Given the description of an element on the screen output the (x, y) to click on. 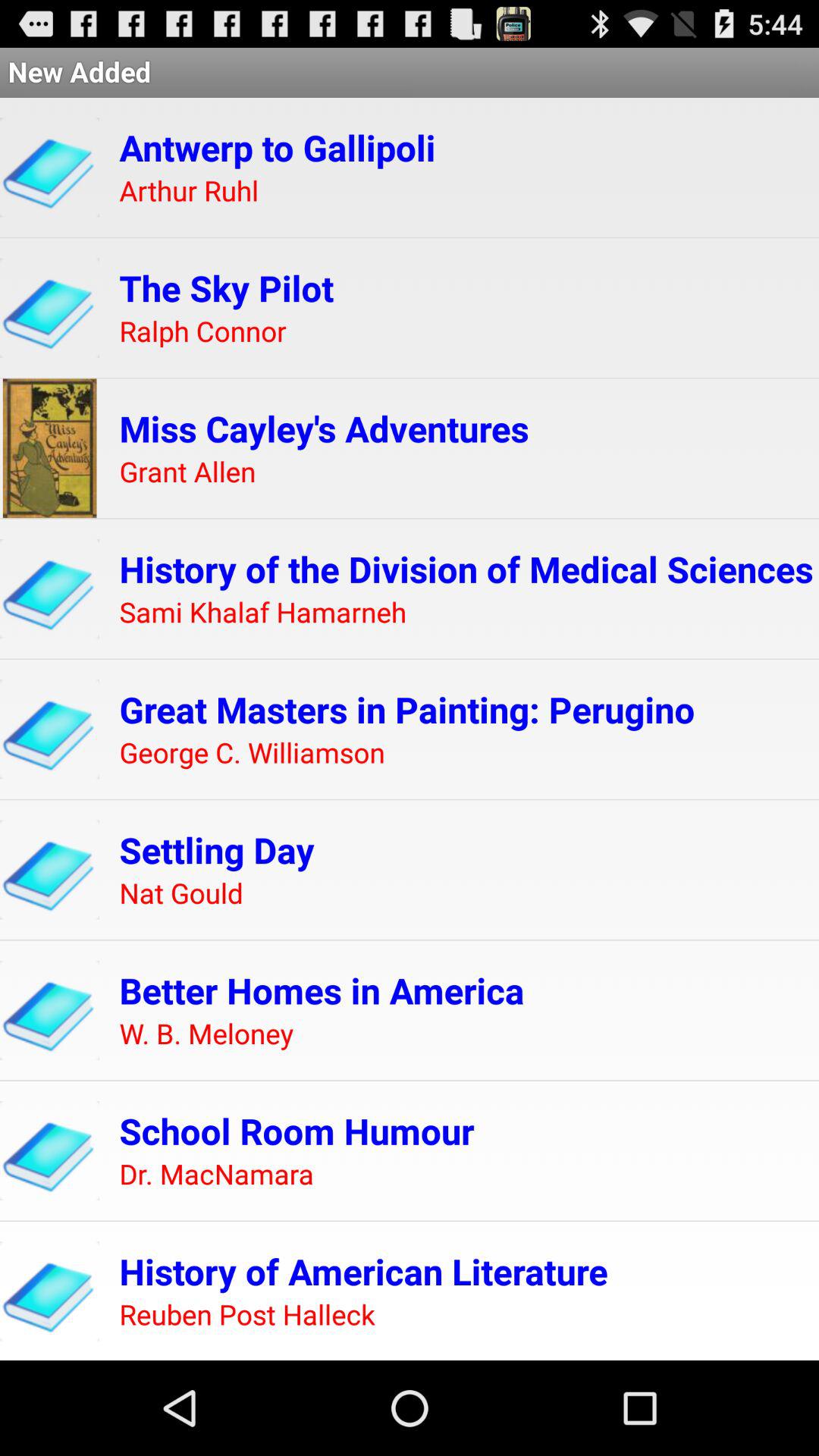
select app above the settling day app (252, 753)
